Given the description of an element on the screen output the (x, y) to click on. 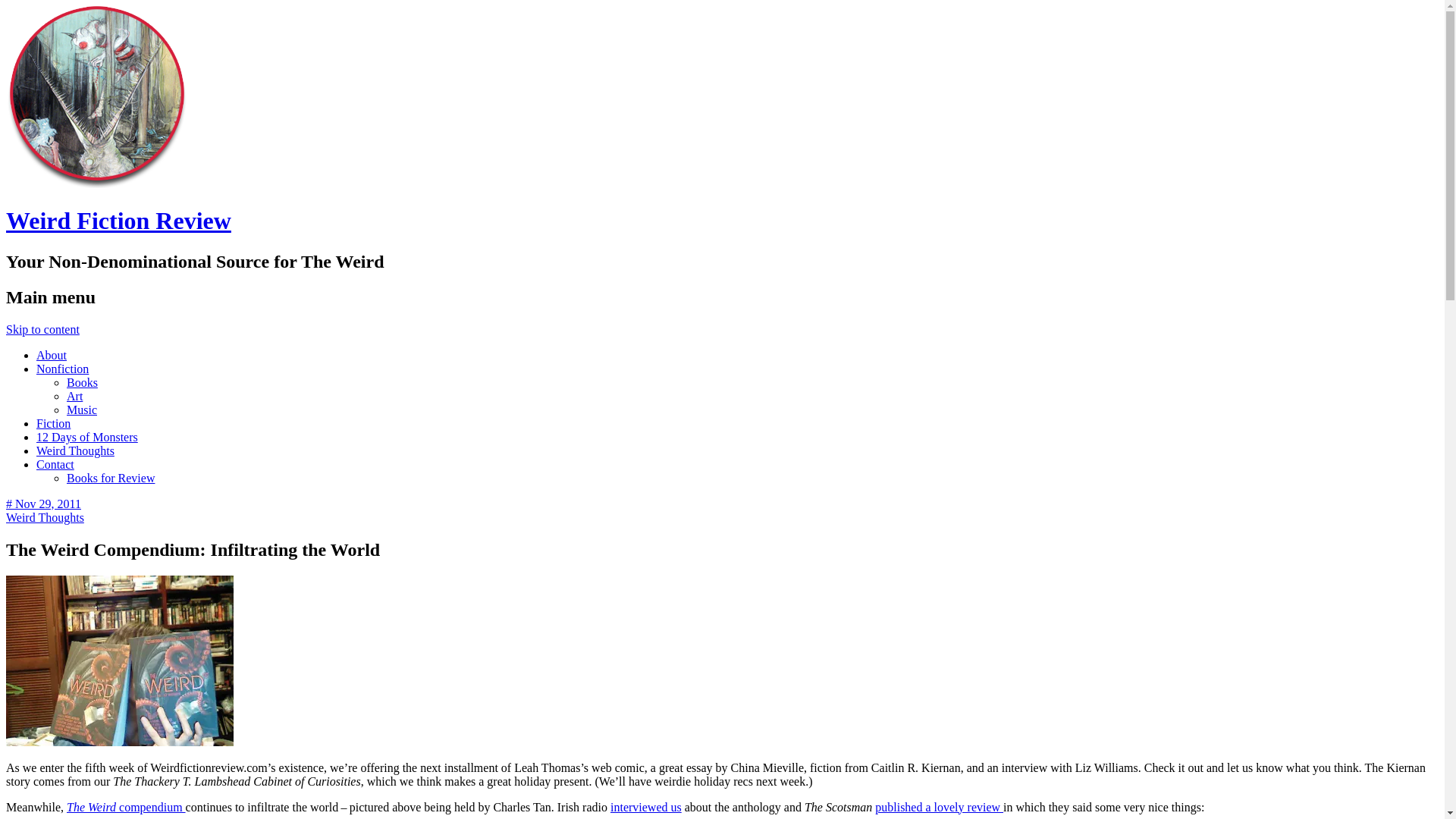
12 Days of Monsters (87, 436)
Art (74, 395)
Books (81, 382)
Skip to content (42, 328)
interviewed us (645, 807)
Books for Review (110, 477)
Weird Fiction Review (118, 220)
Nonfiction (62, 368)
Weird Fiction Review (96, 183)
About (51, 354)
Fiction (52, 422)
Skip to content (42, 328)
Music (81, 409)
Weird Thoughts (75, 450)
